Given the description of an element on the screen output the (x, y) to click on. 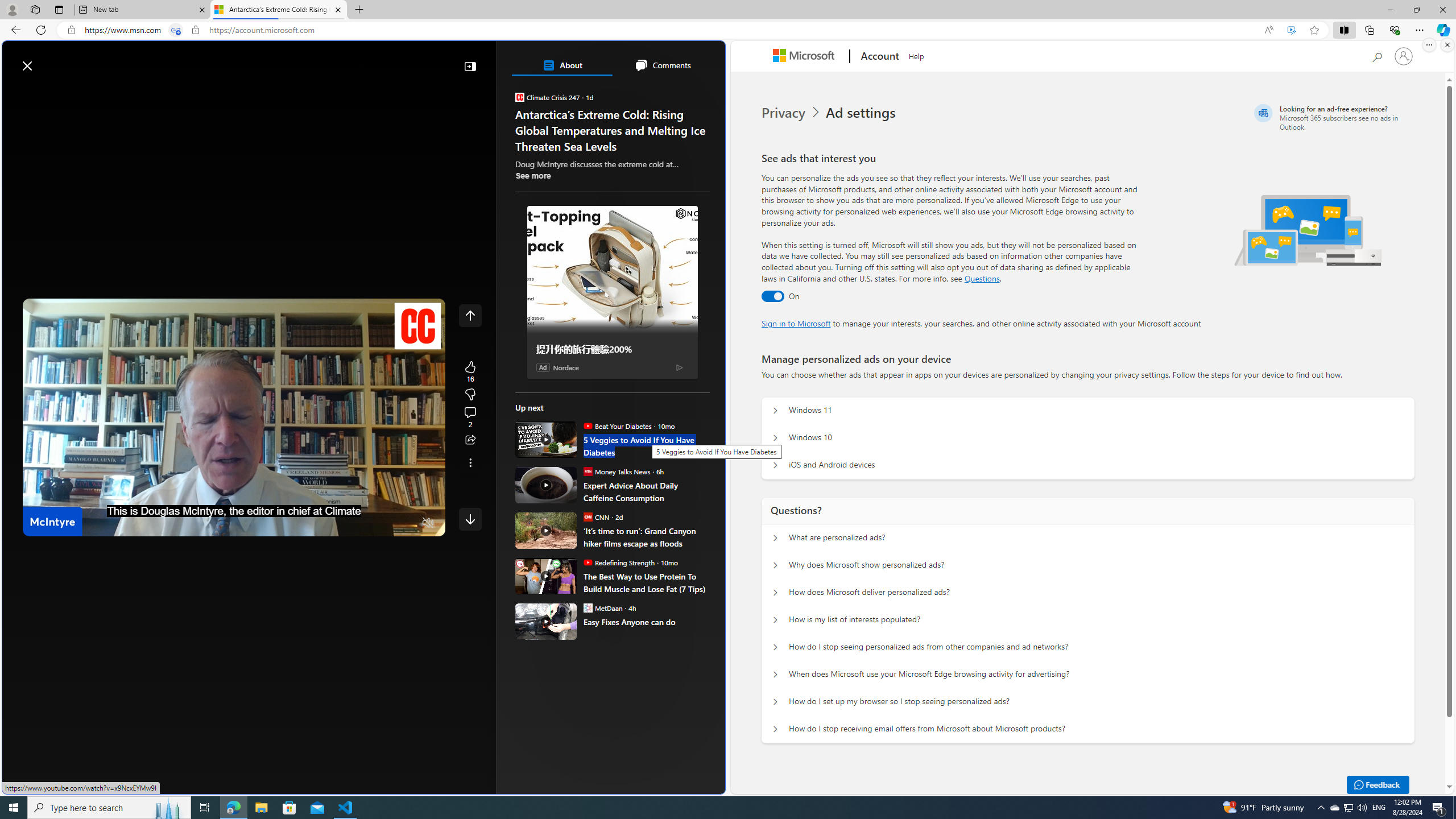
Class: control (469, 518)
Expert Advice About Daily Caffeine Consumption (545, 484)
Questions? What are personalized ads? (775, 537)
Share this story (469, 440)
Seek Forward (85, 523)
Seek Back (62, 523)
Help (915, 54)
